Given the description of an element on the screen output the (x, y) to click on. 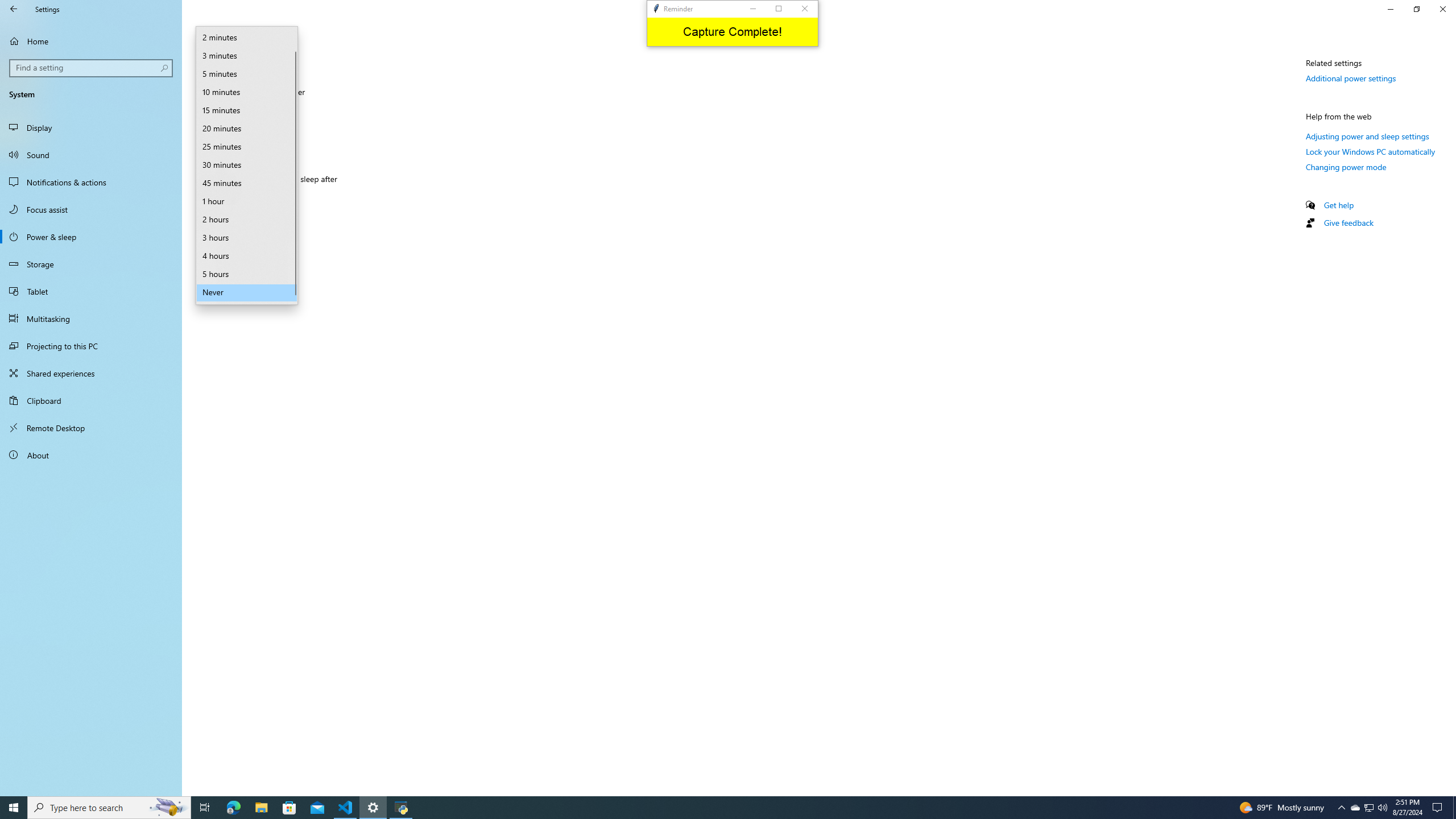
Adjusting power and sleep settings (1367, 136)
20 minutes (246, 129)
Get help (1338, 204)
Restore Settings (1416, 9)
1 minute (246, 27)
Remote Desktop (91, 427)
5 hours (246, 274)
2 minutes (246, 37)
15 minutes (246, 110)
Focus assist (91, 208)
10 minutes (246, 92)
Power & sleep (91, 236)
